Given the description of an element on the screen output the (x, y) to click on. 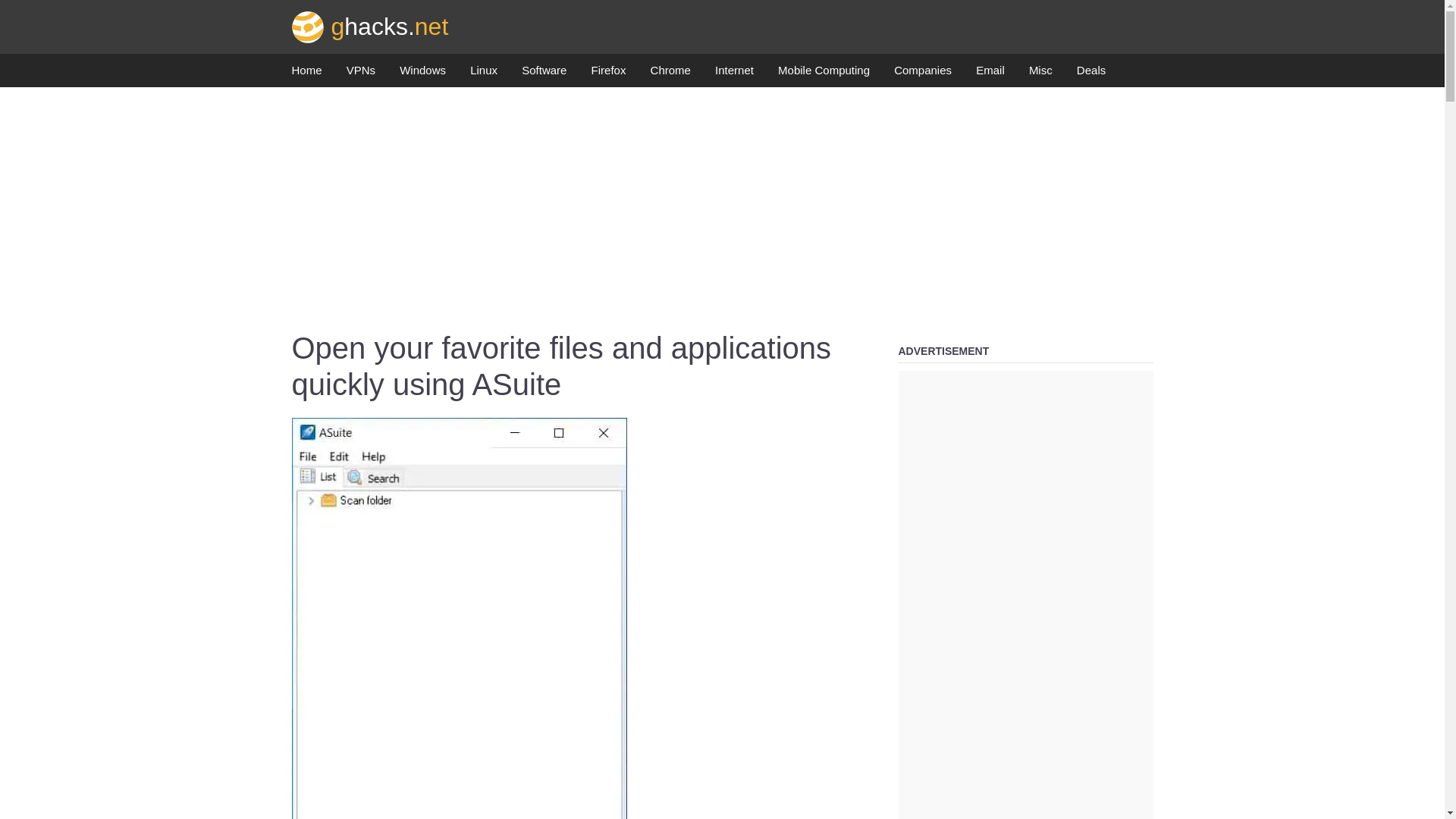
Email (989, 73)
Internet (734, 73)
Companies (922, 73)
Misc (1040, 73)
Windows (421, 73)
Linux (483, 73)
Mobile Computing (823, 73)
VPNs (360, 73)
Deals (1091, 73)
Software (543, 73)
